Given the description of an element on the screen output the (x, y) to click on. 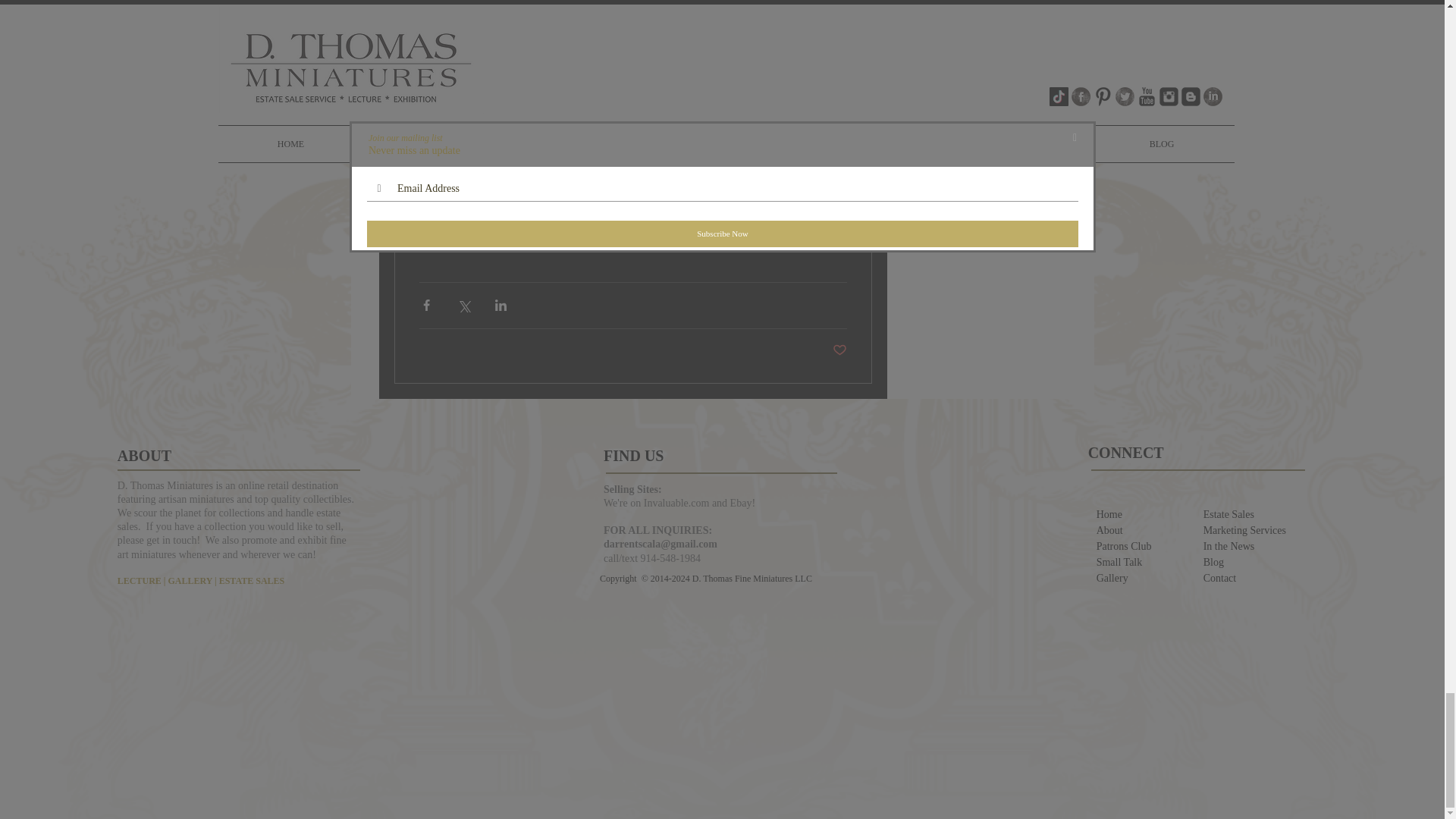
Wix Get Subscribers (724, 703)
Post not marked as liked (839, 350)
